Given the description of an element on the screen output the (x, y) to click on. 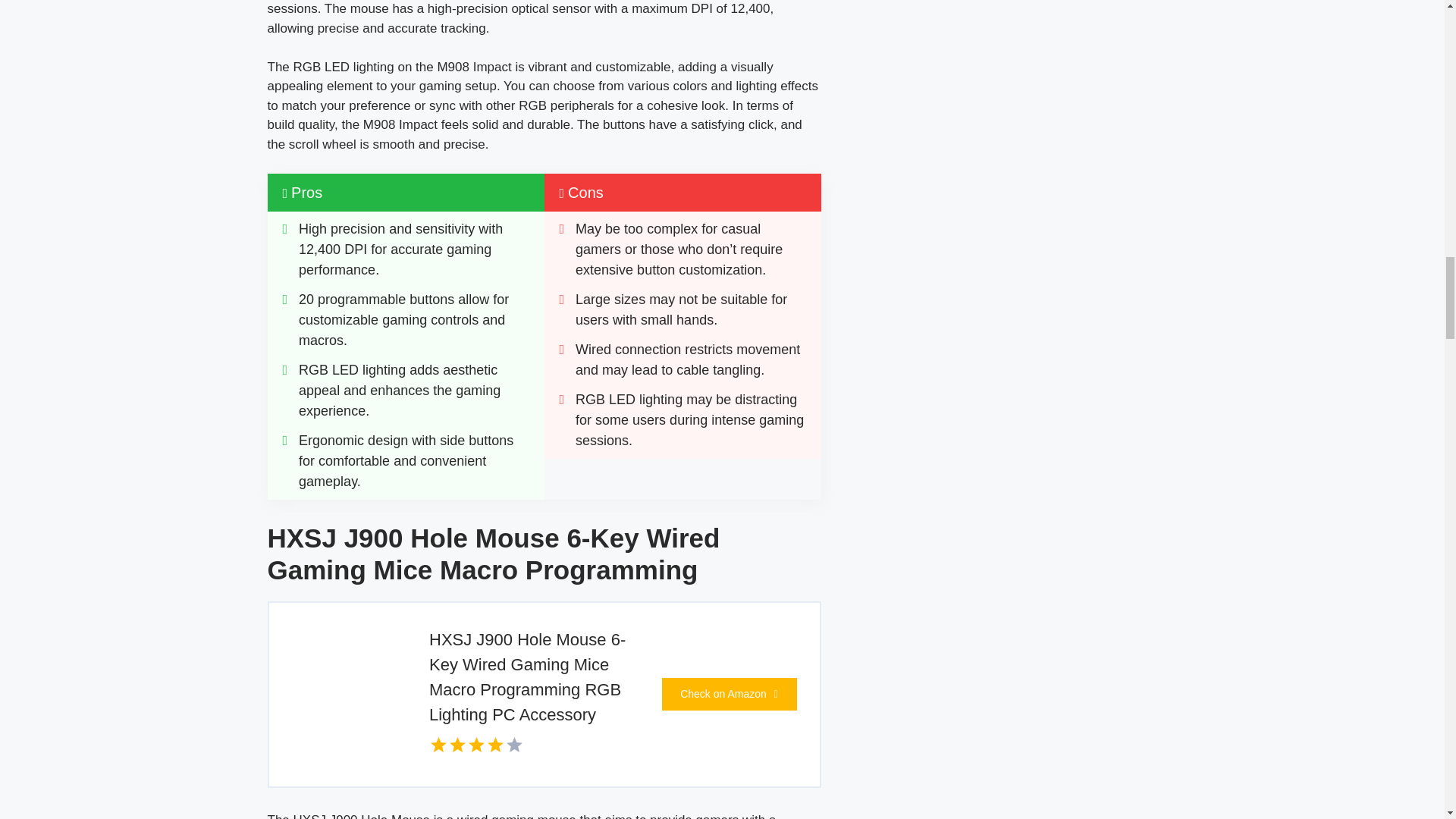
Check on Amazon (728, 694)
